Given the description of an element on the screen output the (x, y) to click on. 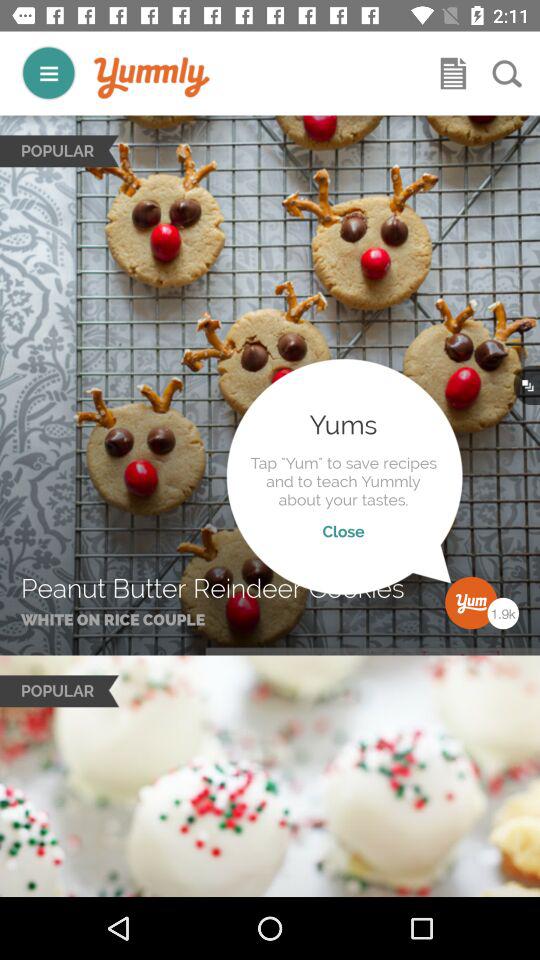
turn off the item to the right of the peanut butter reindeer (445, 576)
